Given the description of an element on the screen output the (x, y) to click on. 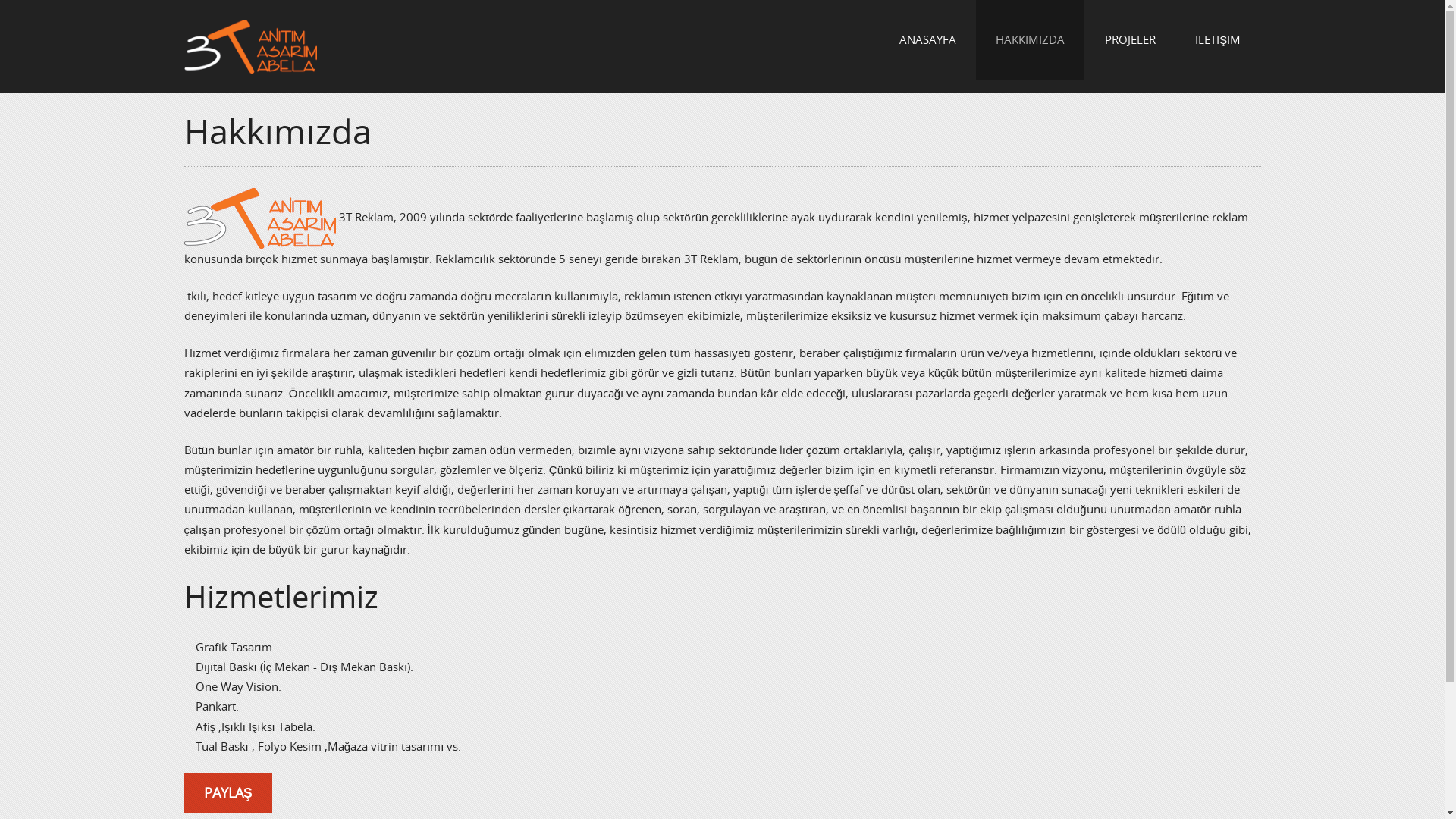
HAKKIMIZDA Element type: text (1030, 39)
PROJELER Element type: text (1129, 39)
ANASAYFA Element type: text (926, 39)
